Given the description of an element on the screen output the (x, y) to click on. 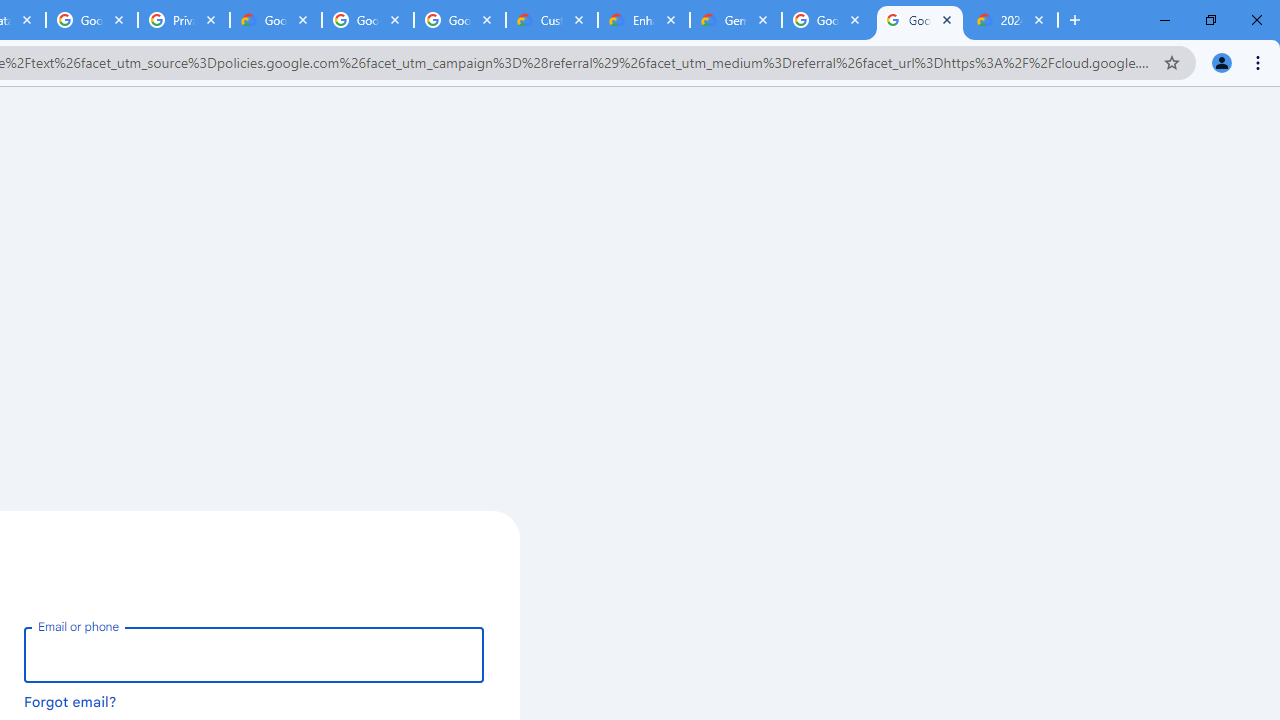
Google Cloud Platform (828, 20)
Customer Care | Google Cloud (551, 20)
Email or phone (253, 654)
